Given the description of an element on the screen output the (x, y) to click on. 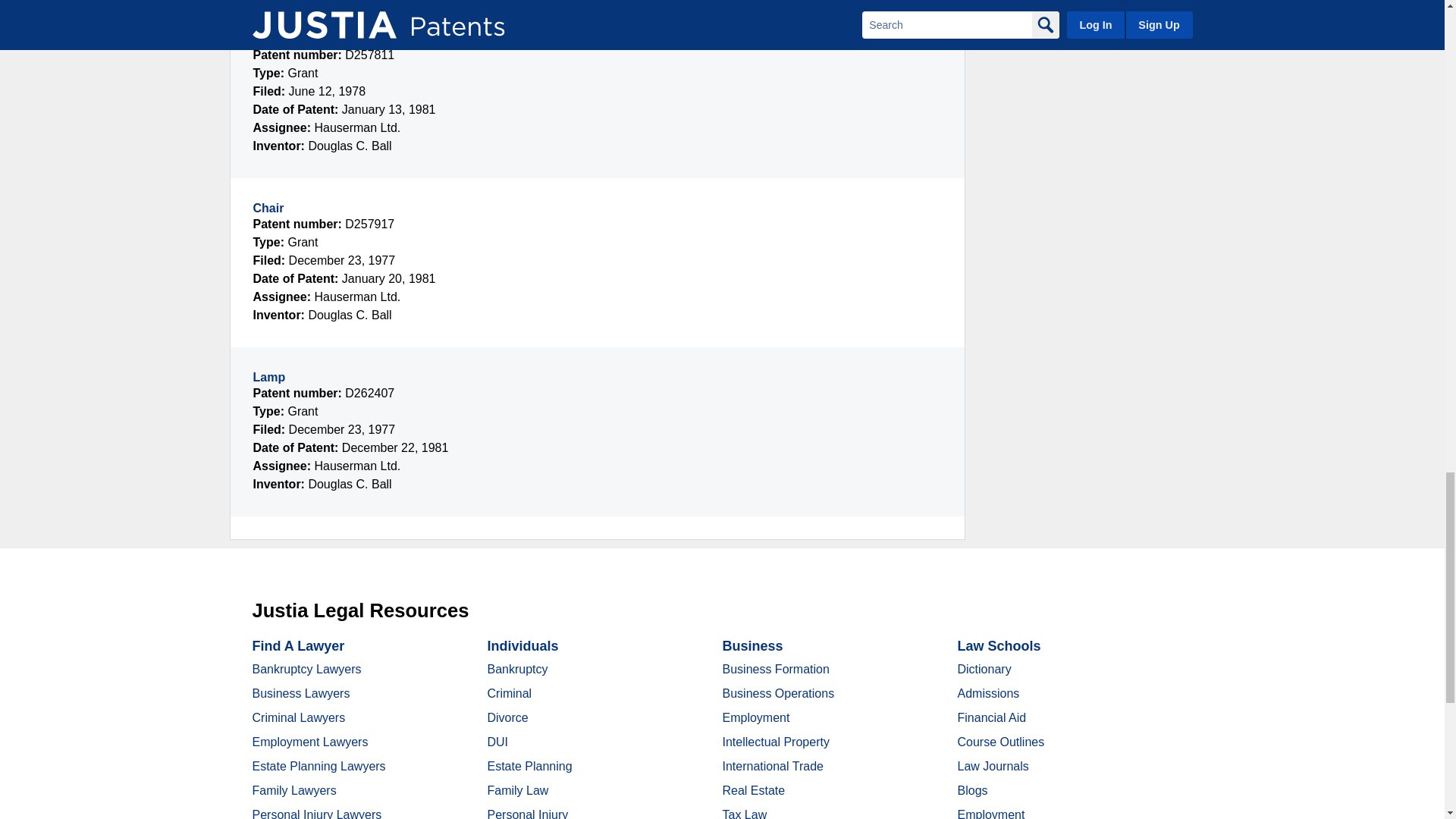
Lamp (269, 377)
Chair (268, 207)
Room divider (291, 38)
